Given the description of an element on the screen output the (x, y) to click on. 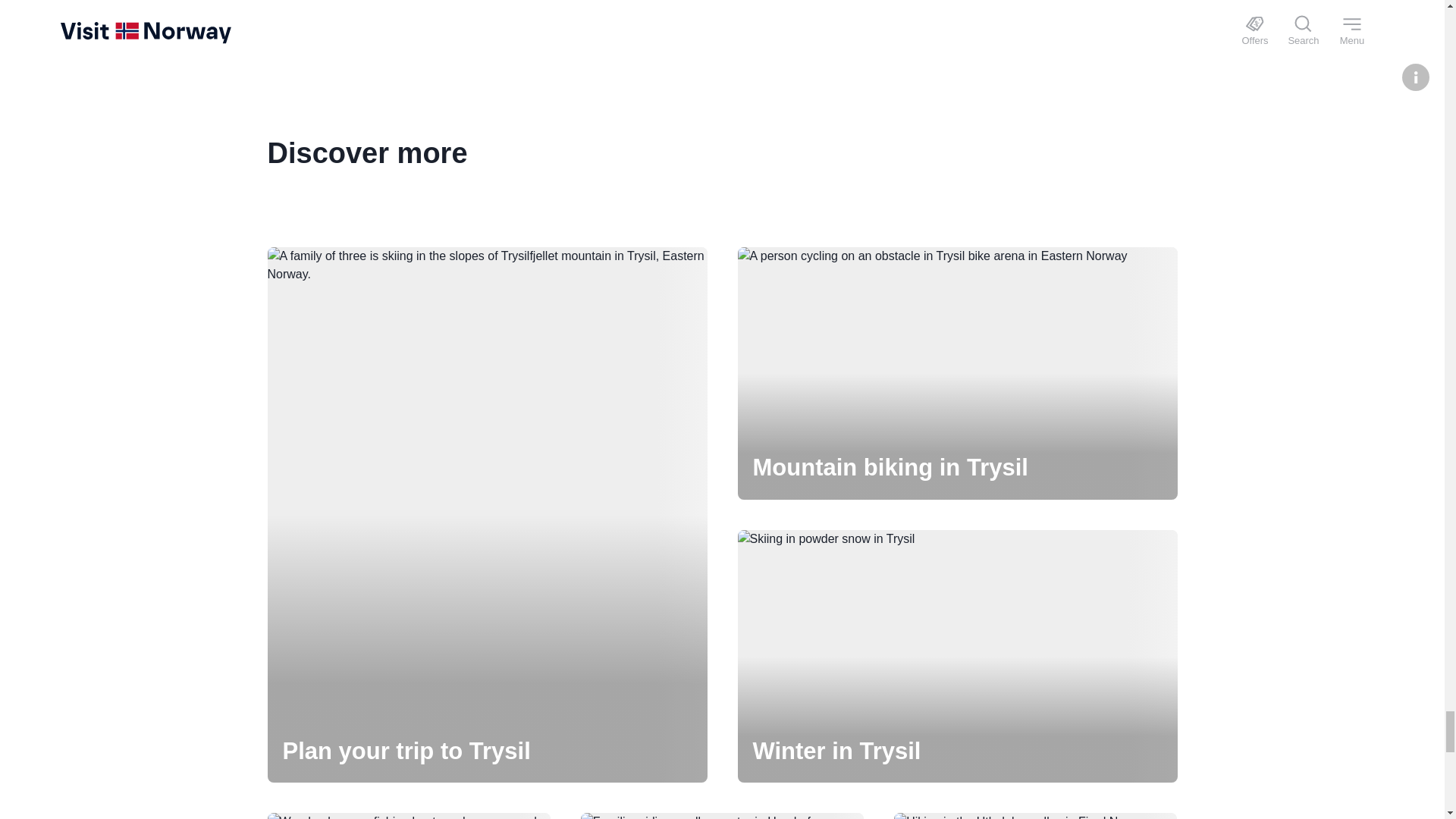
Norway's top destinations for kids (721, 816)
Mountain biking in Trysil (956, 373)
Winter in Trysil (956, 655)
10 amazing valley hikes (1034, 816)
Destinations with a focus on sustainability (408, 816)
